Given the description of an element on the screen output the (x, y) to click on. 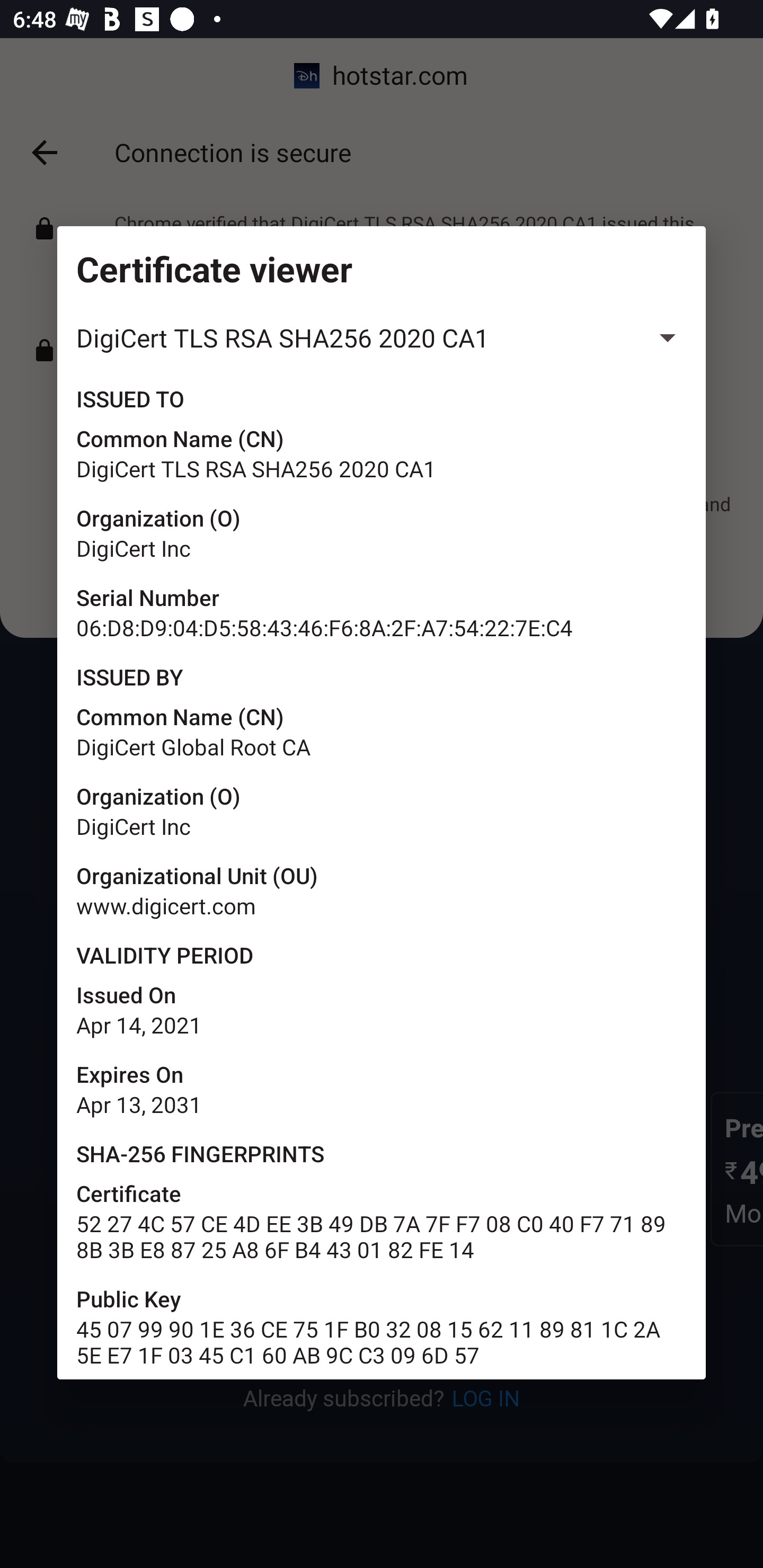
DigiCert TLS RSA SHA256 2020 CA1 (381, 337)
